Given the description of an element on the screen output the (x, y) to click on. 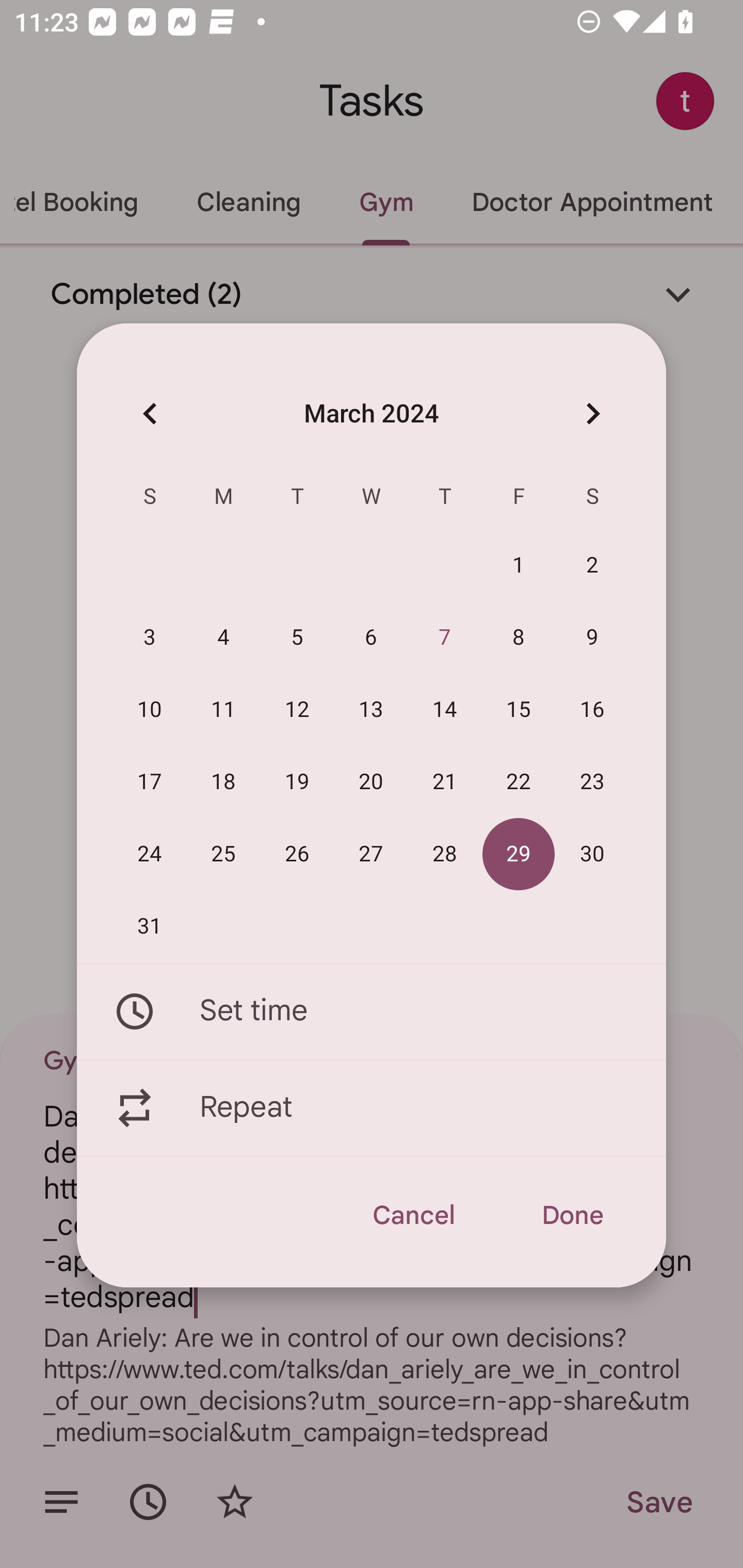
Previous month (149, 413)
Next month (592, 413)
1 01 March 2024 (518, 565)
2 02 March 2024 (592, 565)
3 03 March 2024 (149, 638)
4 04 March 2024 (223, 638)
5 05 March 2024 (297, 638)
6 06 March 2024 (370, 638)
7 07 March 2024 (444, 638)
8 08 March 2024 (518, 638)
9 09 March 2024 (592, 638)
10 10 March 2024 (149, 710)
11 11 March 2024 (223, 710)
12 12 March 2024 (297, 710)
13 13 March 2024 (370, 710)
14 14 March 2024 (444, 710)
15 15 March 2024 (518, 710)
16 16 March 2024 (592, 710)
17 17 March 2024 (149, 782)
18 18 March 2024 (223, 782)
19 19 March 2024 (297, 782)
20 20 March 2024 (370, 782)
21 21 March 2024 (444, 782)
22 22 March 2024 (518, 782)
23 23 March 2024 (592, 782)
24 24 March 2024 (149, 854)
25 25 March 2024 (223, 854)
26 26 March 2024 (297, 854)
27 27 March 2024 (370, 854)
28 28 March 2024 (444, 854)
29 29 March 2024 (518, 854)
30 30 March 2024 (592, 854)
31 31 March 2024 (149, 926)
Set time (371, 1011)
Repeat (371, 1108)
Cancel (412, 1215)
Done (571, 1215)
